Given the description of an element on the screen output the (x, y) to click on. 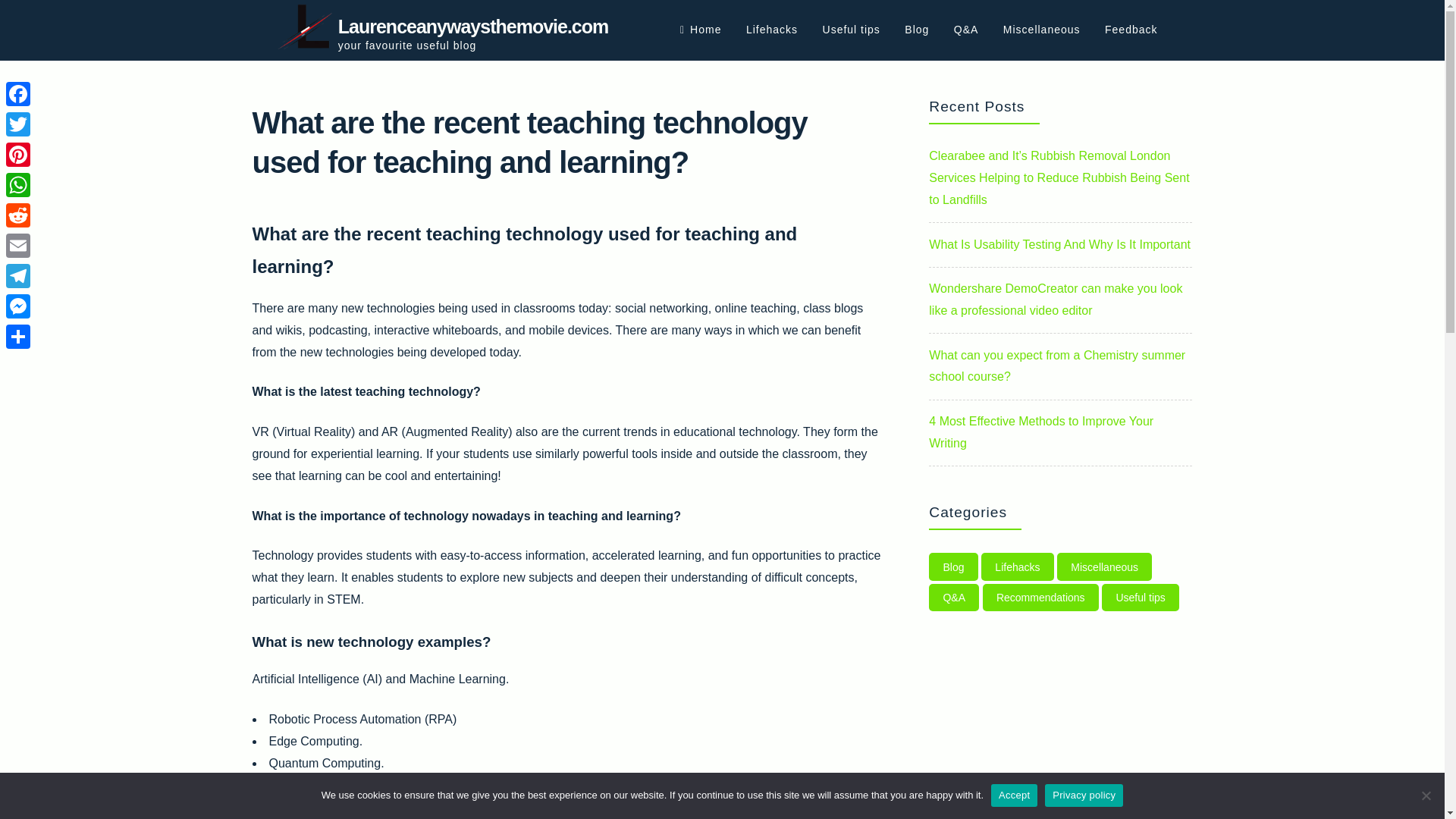
Lifehacks (1017, 565)
Telegram (17, 276)
Messenger (17, 306)
Useful tips (1140, 596)
Pinterest (17, 154)
Laurenceanywaysthemovie.com (472, 25)
Recommendations (1040, 596)
Feedback (1131, 30)
WhatsApp (17, 184)
Miscellaneous (1041, 30)
Twitter (17, 123)
Pinterest (17, 154)
Reddit (17, 214)
Useful tips (851, 30)
Home (699, 30)
